Given the description of an element on the screen output the (x, y) to click on. 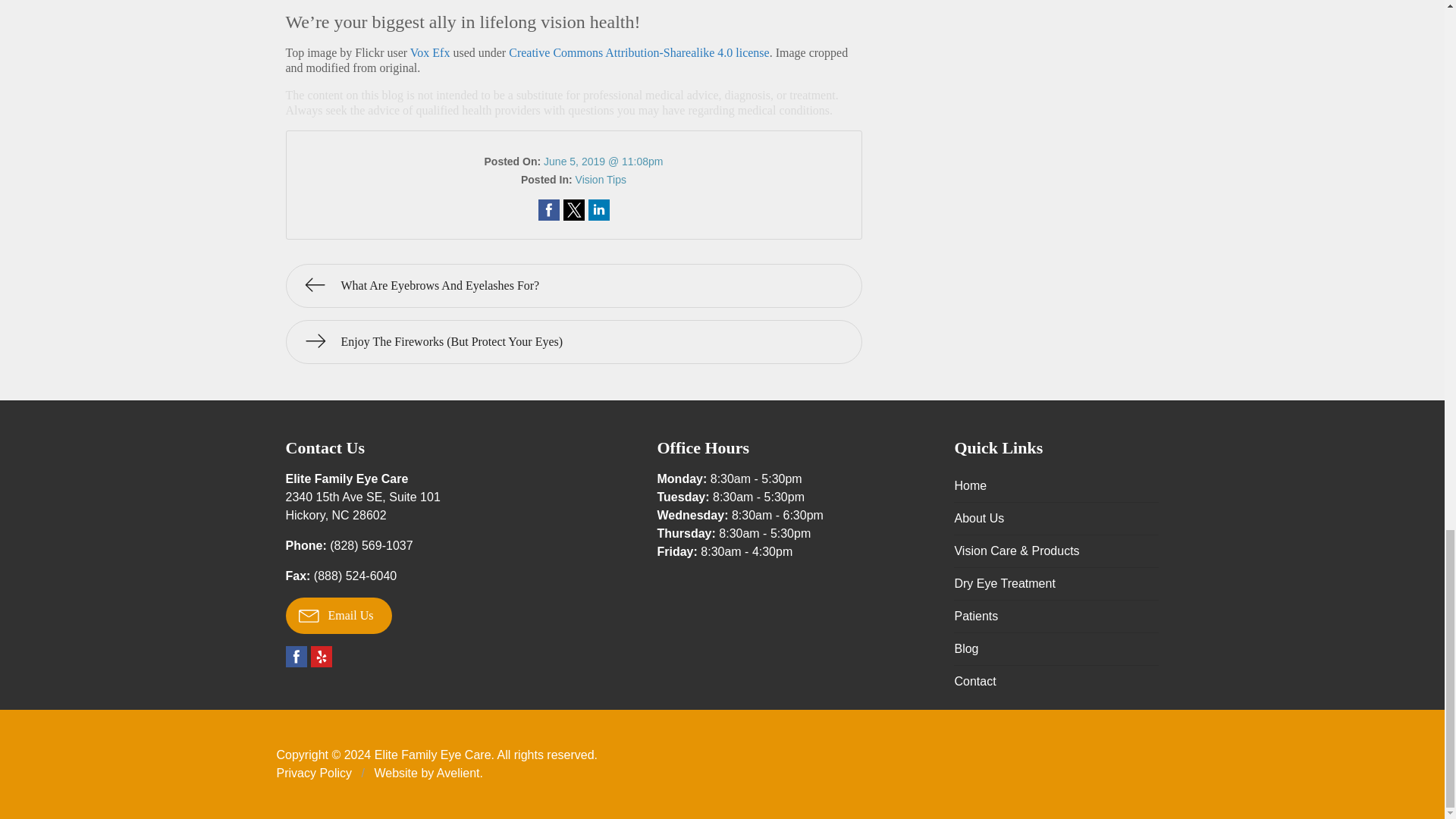
What Are Eyebrows And Eyelashes For? (573, 285)
Go to our Yelp Page (321, 656)
Creative Commons Attribution-Sharealike 4.0 license (638, 51)
Share on Facebook (548, 209)
Share on LinkedIn (599, 209)
Vision Tips (362, 505)
Share on LinkedIn (600, 179)
Powered by Avelient (599, 209)
Open this address in Google Maps (458, 772)
Email Us (362, 505)
Share on Facebook (338, 615)
Go to our Facebook Page (548, 209)
Share on Twitter (295, 656)
Share on Twitter (572, 209)
